Given the description of an element on the screen output the (x, y) to click on. 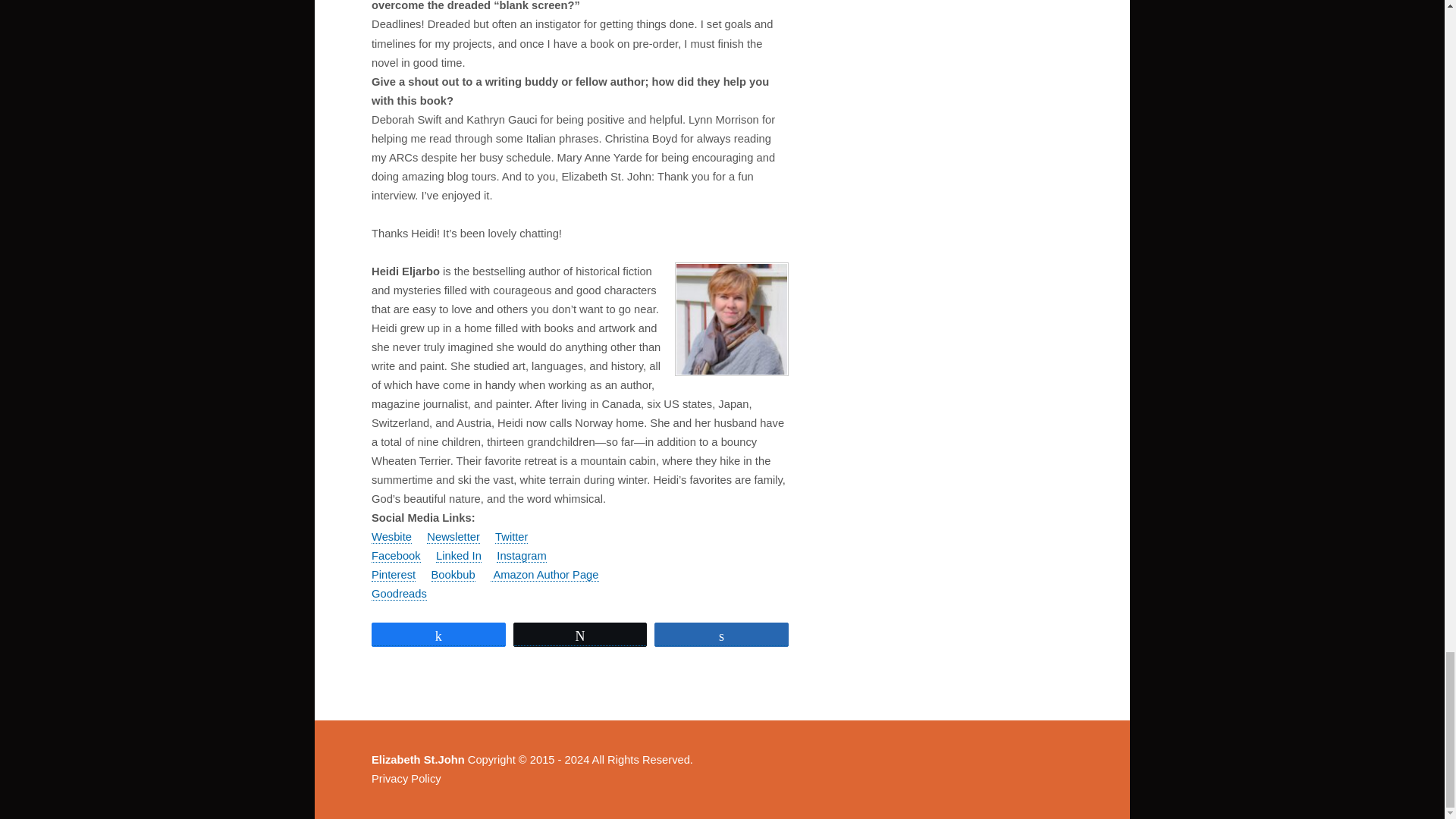
Newsletter (453, 536)
Linked In (458, 555)
Twitter (511, 536)
Pinterest (392, 574)
Instagram (521, 555)
Bookbub (453, 574)
Wesbite (391, 536)
 Amazon Author Page (544, 574)
Facebook (395, 555)
